Given the description of an element on the screen output the (x, y) to click on. 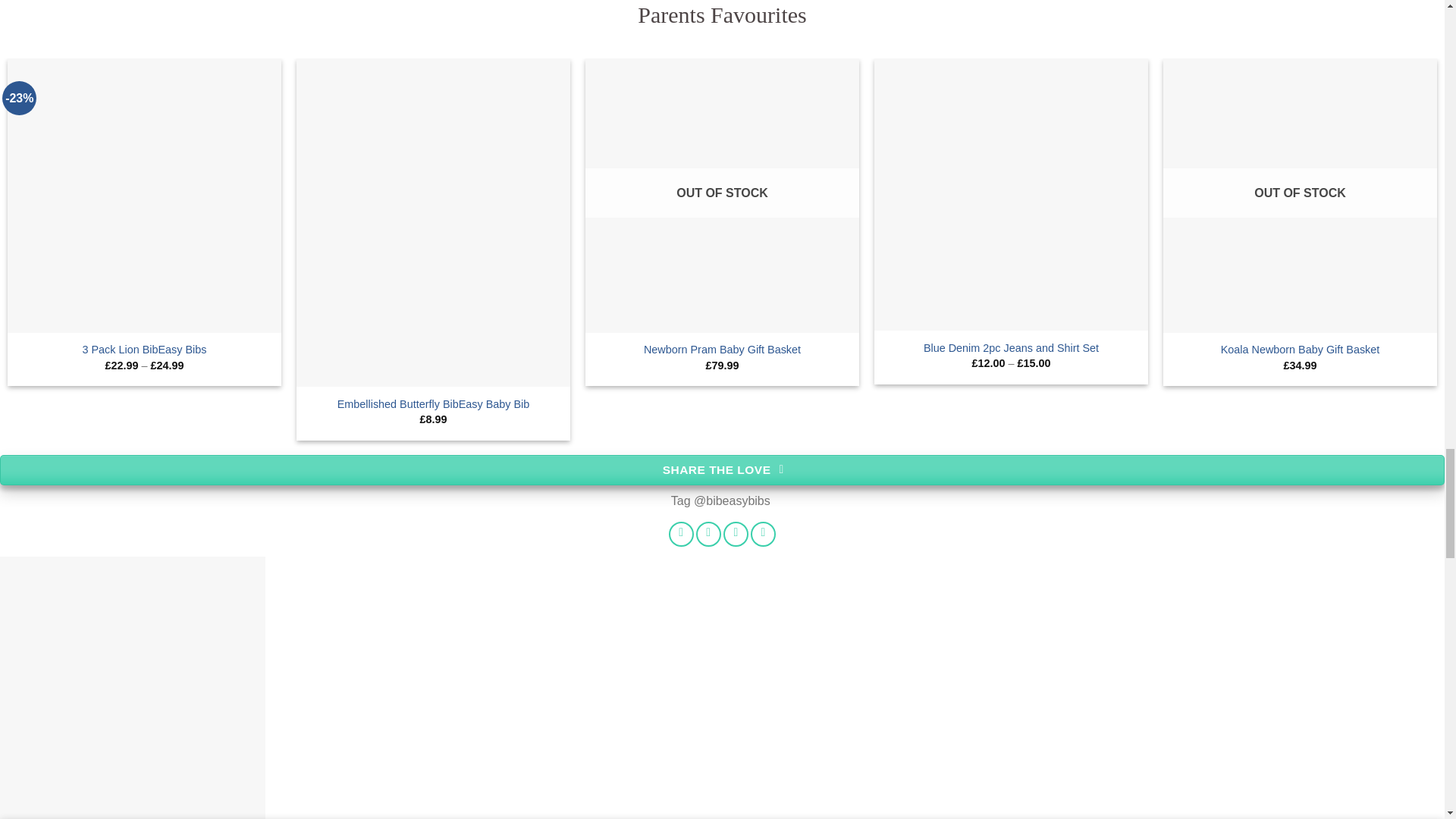
Follow on TikTok (735, 534)
Follow on Facebook (681, 534)
Follow on Twitter (763, 534)
Follow on Instagram (707, 534)
